Given the description of an element on the screen output the (x, y) to click on. 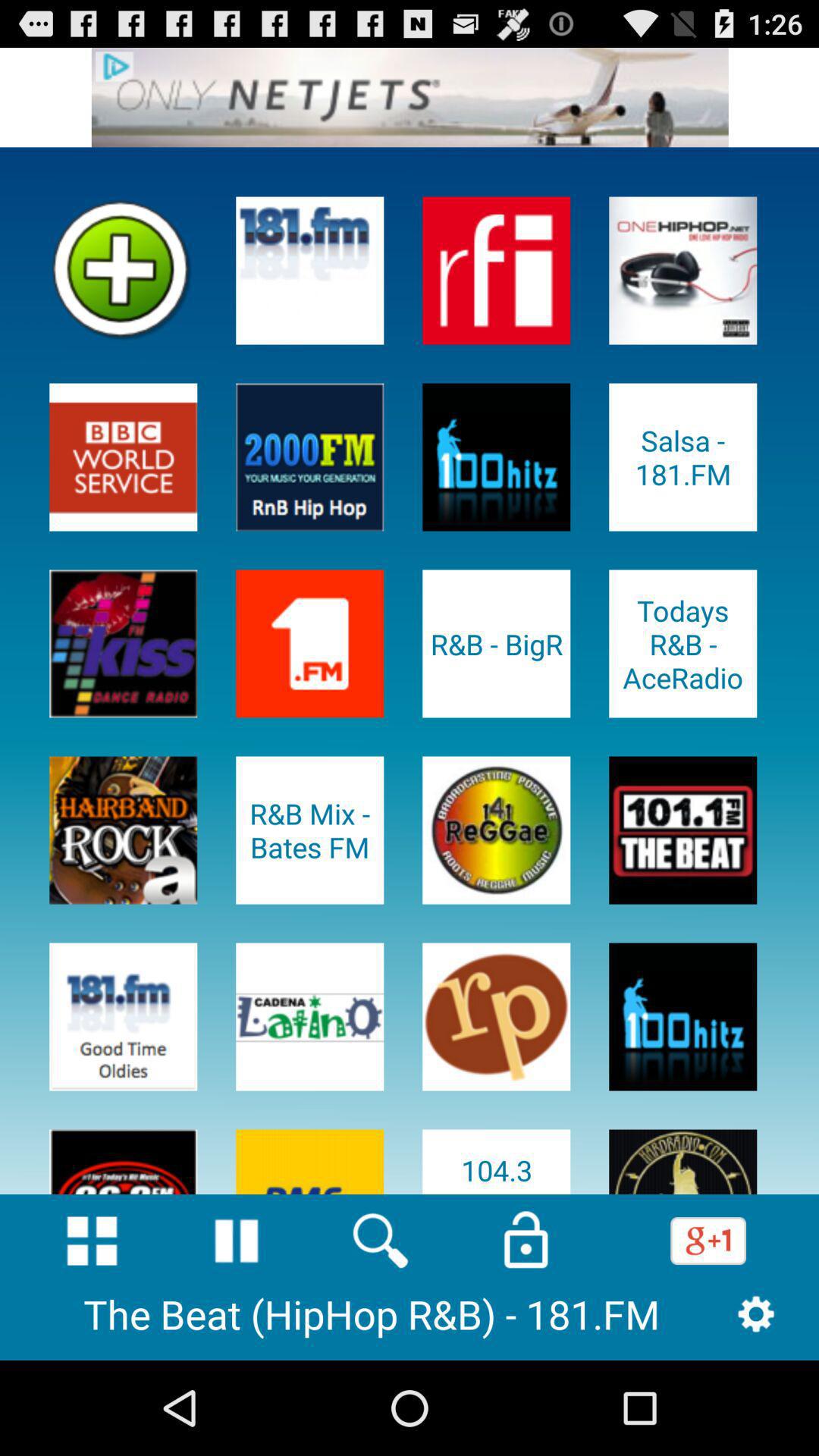
go to next (409, 97)
